Given the description of an element on the screen output the (x, y) to click on. 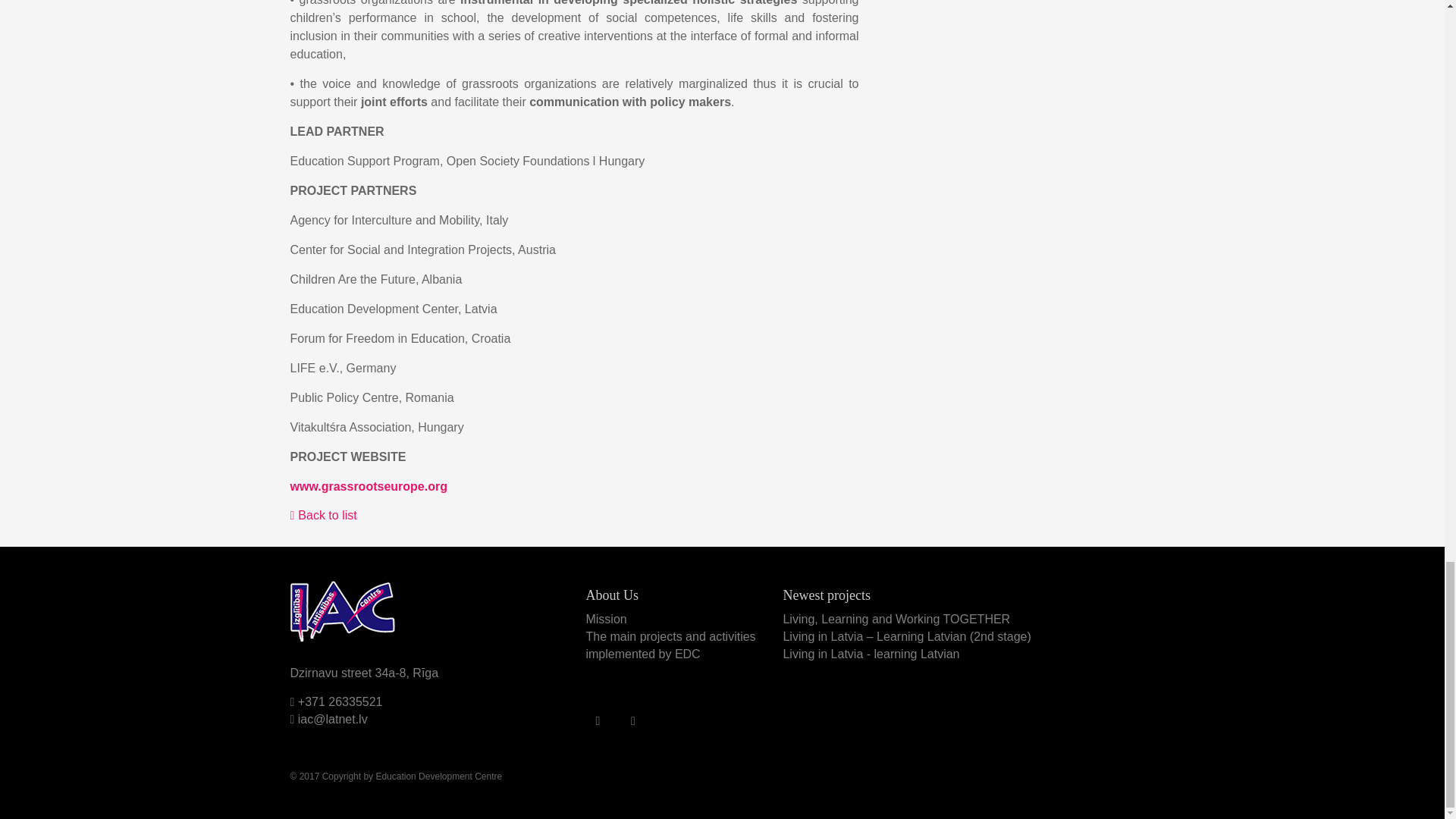
Back to list (322, 514)
www.grassrootseurope.org (367, 486)
